Given the description of an element on the screen output the (x, y) to click on. 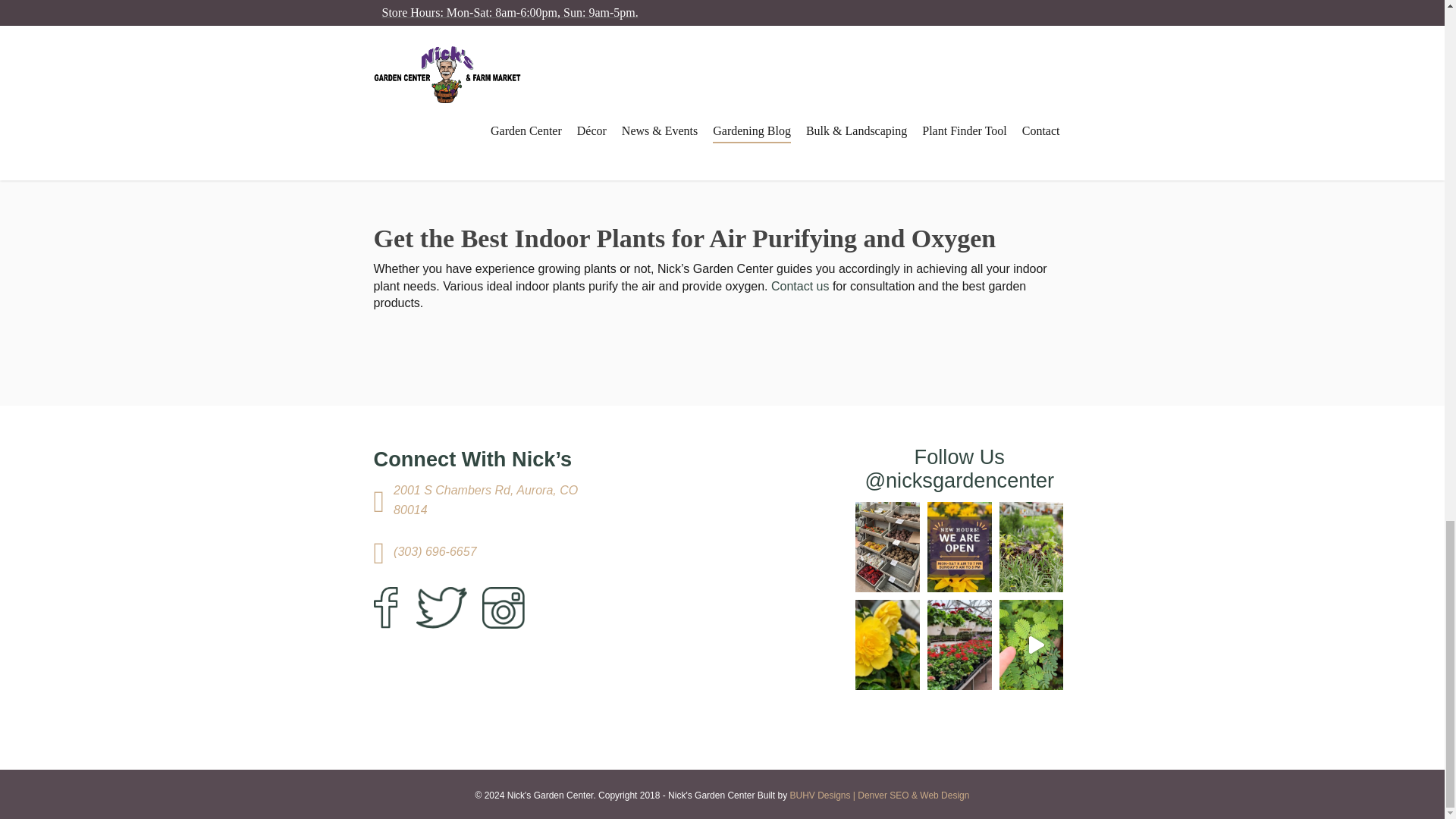
Contact us (799, 286)
